Given the description of an element on the screen output the (x, y) to click on. 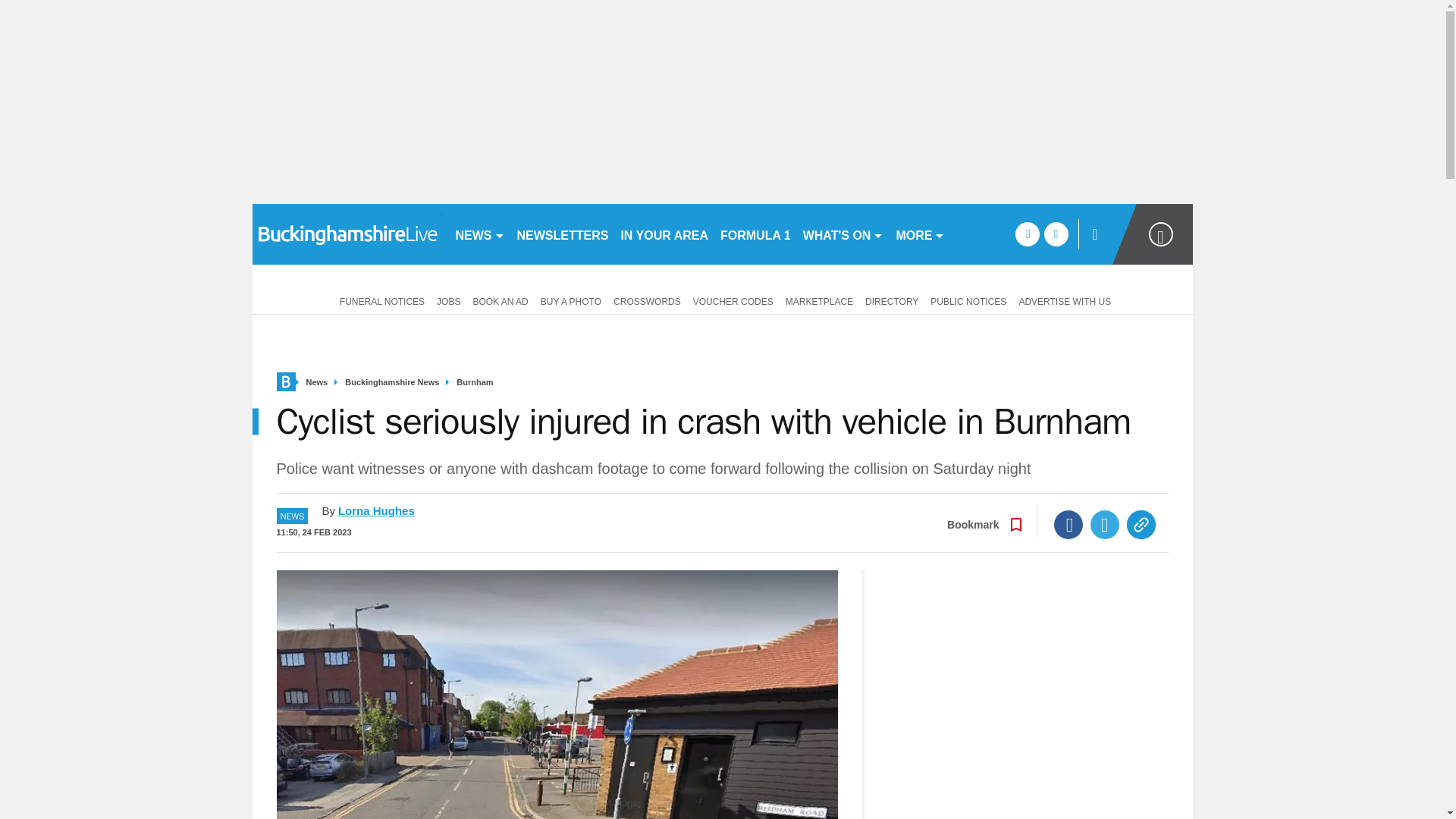
FUNERAL NOTICES (378, 300)
DIRECTORY (891, 300)
Buckinghamshire News (392, 382)
Facebook (1068, 524)
MARKETPLACE (818, 300)
Home (285, 381)
facebook (1026, 233)
ADVERTISE WITH US (1063, 300)
buckinghamshirelive (346, 233)
VOUCHER CODES (732, 300)
